Given the description of an element on the screen output the (x, y) to click on. 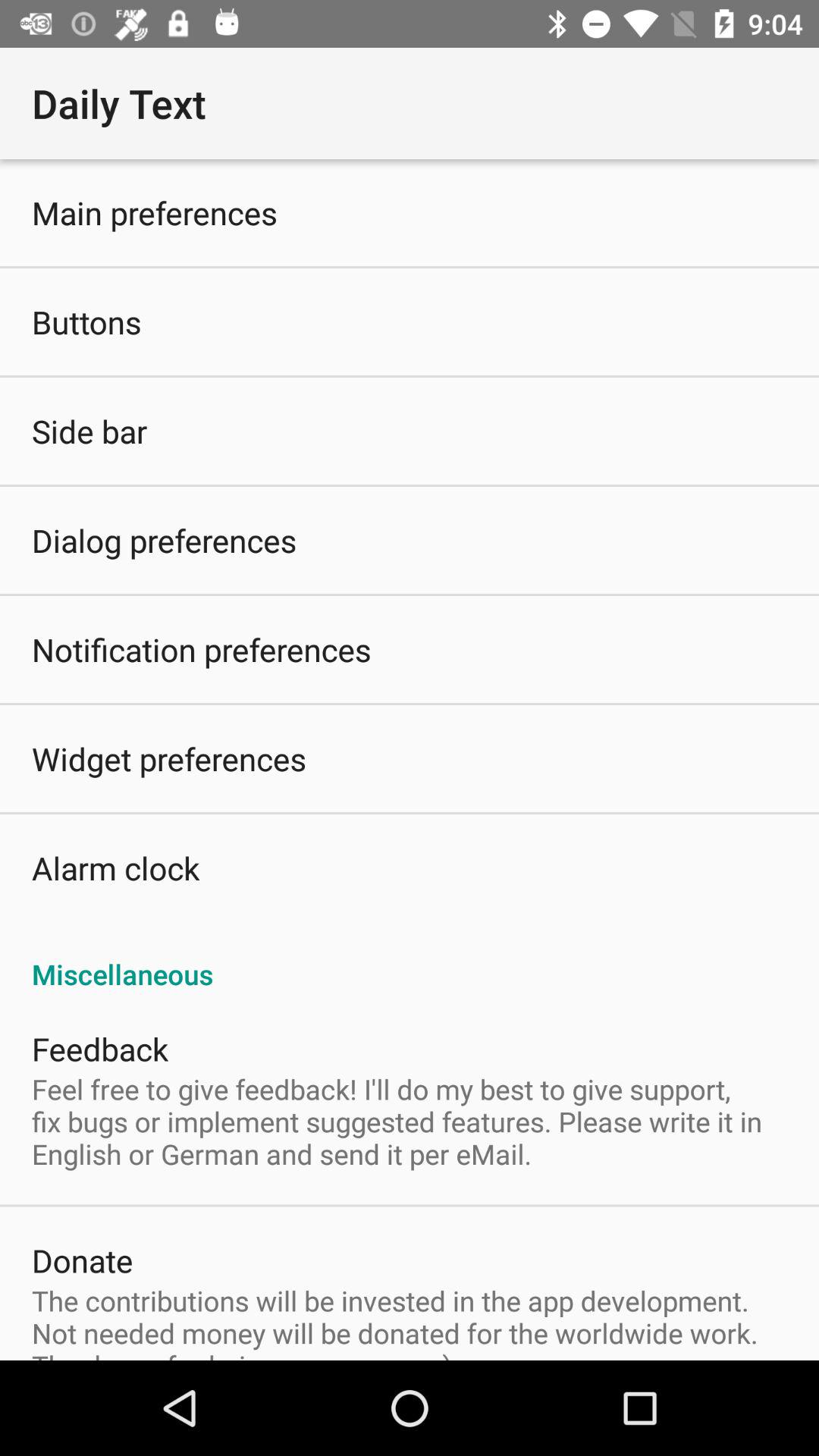
jump until donate icon (82, 1259)
